Given the description of an element on the screen output the (x, y) to click on. 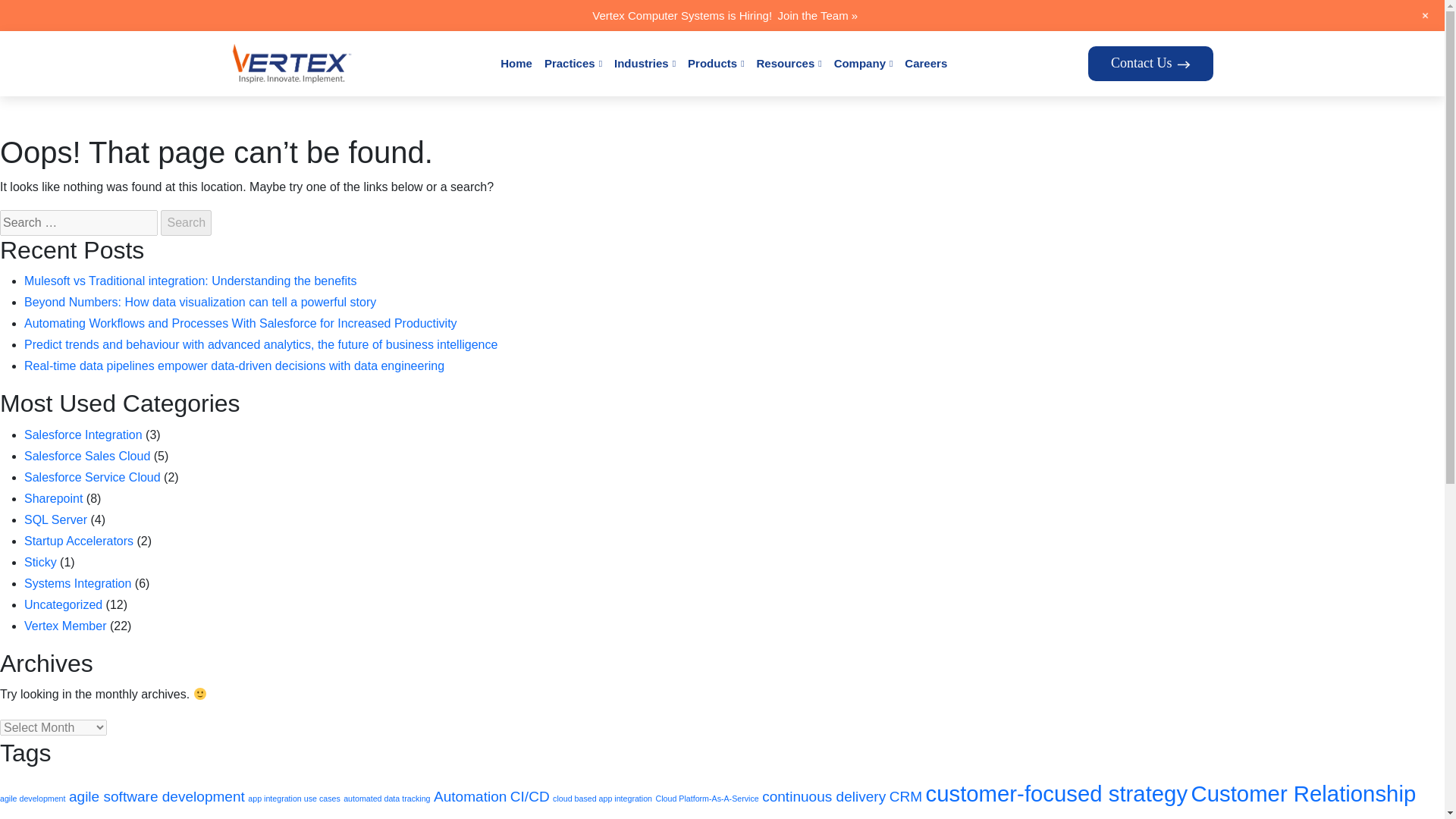
Resources (789, 63)
Search (185, 222)
Salesforce Integration (83, 434)
Search (185, 222)
Search (185, 222)
Careers (925, 63)
Salesforce Service Cloud (92, 477)
Contact Us (1150, 63)
Company (863, 63)
Industries (644, 63)
